Given the description of an element on the screen output the (x, y) to click on. 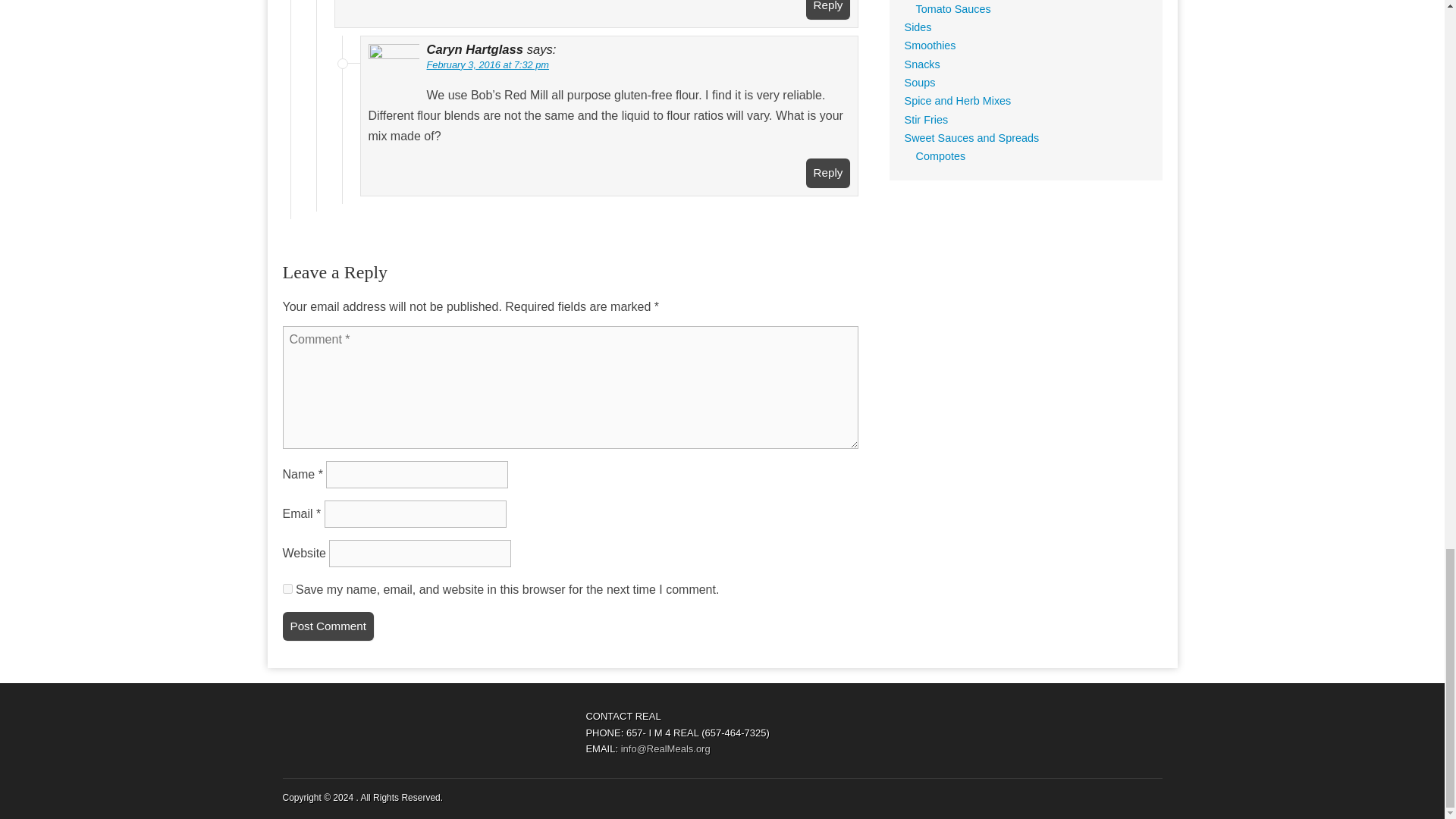
yes (287, 588)
Post Comment (327, 625)
